Given the description of an element on the screen output the (x, y) to click on. 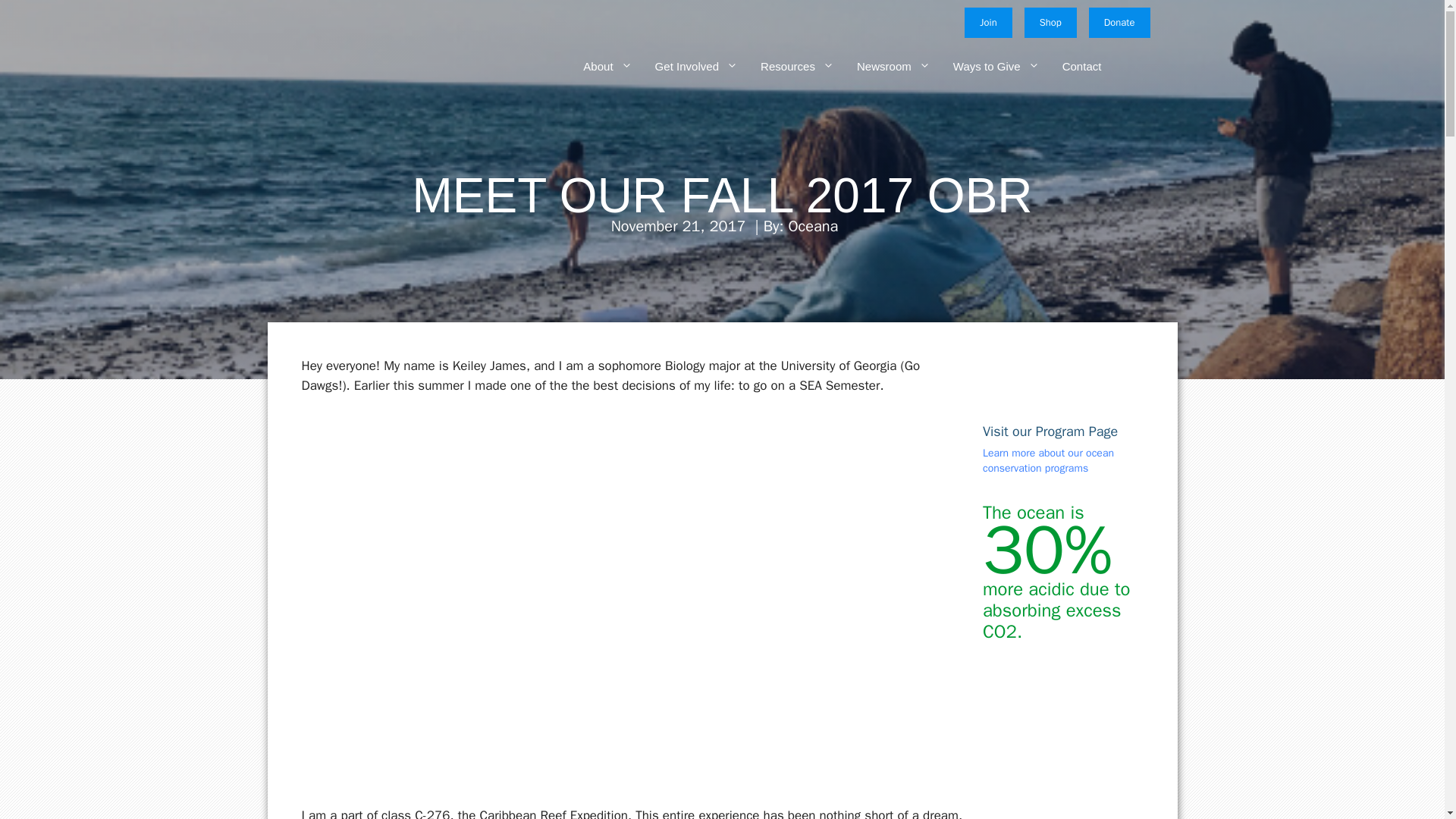
Resources (786, 66)
Donate (1119, 22)
About (595, 66)
Ways to Give (984, 66)
Shop (1051, 22)
Newsroom (882, 66)
Get Involved (684, 66)
Sailors for the Sea (355, 65)
Join (987, 22)
